Given the description of an element on the screen output the (x, y) to click on. 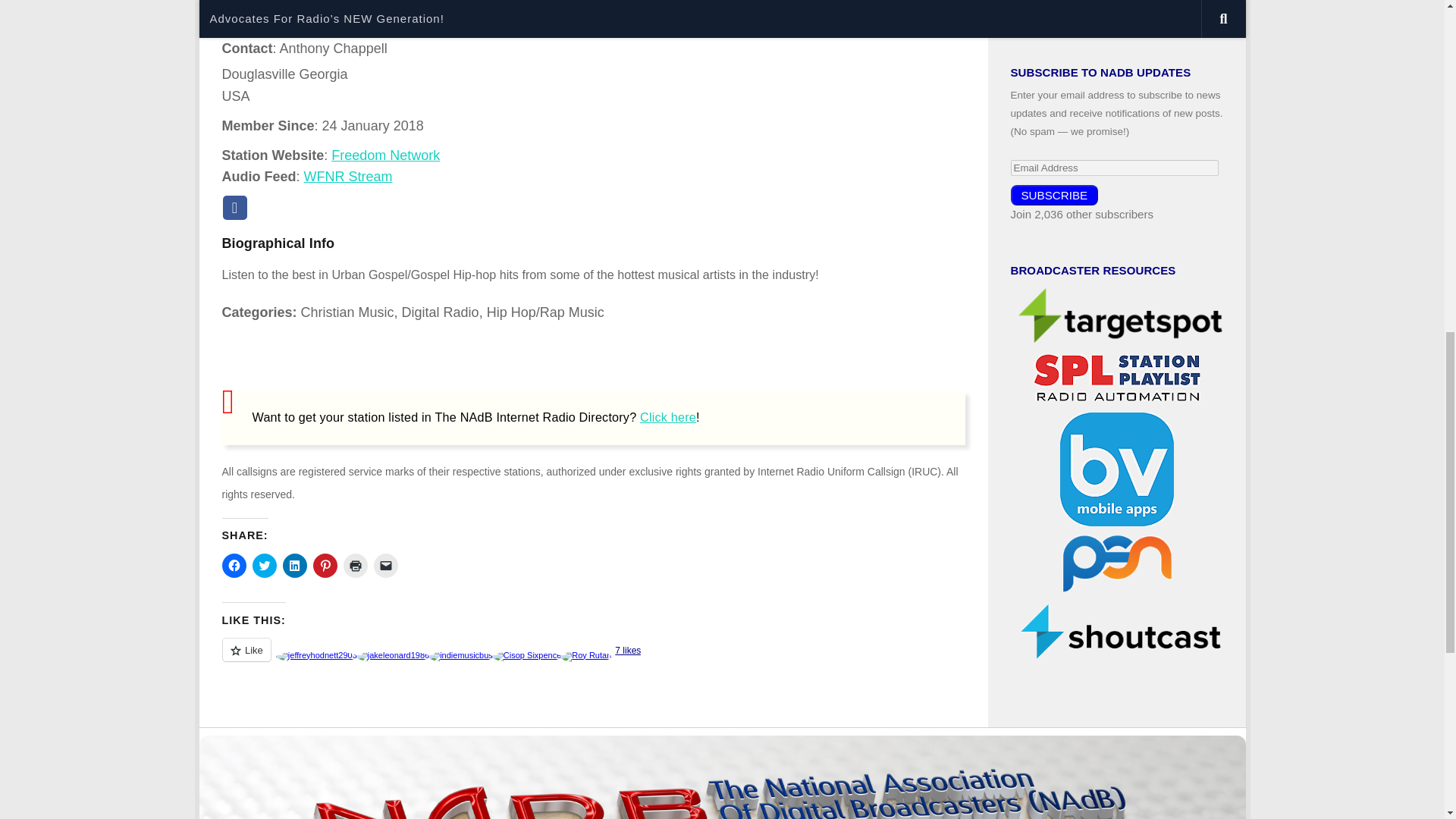
20180124 (372, 125)
Click to share on LinkedIn (293, 565)
Click to share on Twitter (263, 565)
Click to share on Pinterest (324, 565)
Like or Reblog (592, 658)
Click to share on Facebook (233, 565)
TargetSpot Advertising Solutions (1120, 315)
Click to email a link to a friend (384, 565)
Photo of WFNR-DB (875, 43)
Click to print (354, 565)
